Given the description of an element on the screen output the (x, y) to click on. 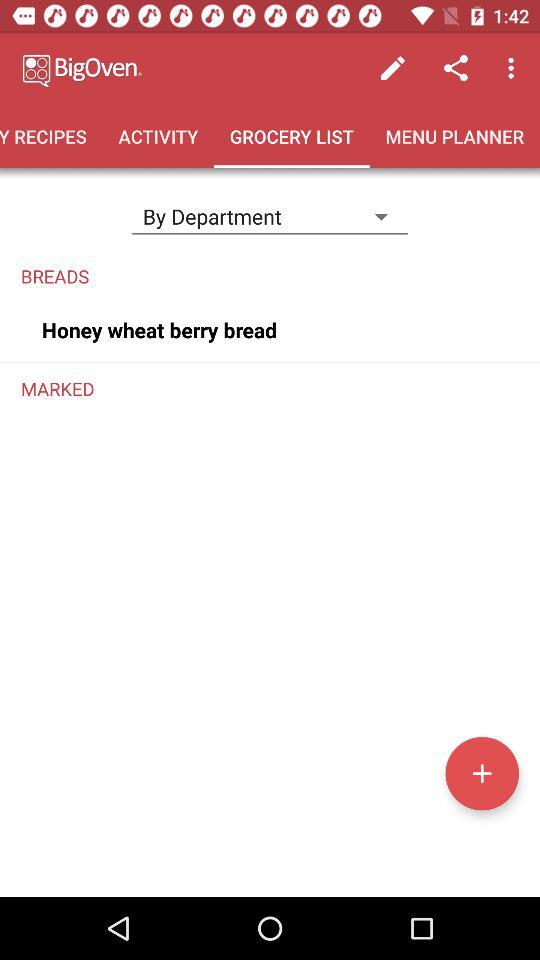
to add new item icon (482, 773)
